Given the description of an element on the screen output the (x, y) to click on. 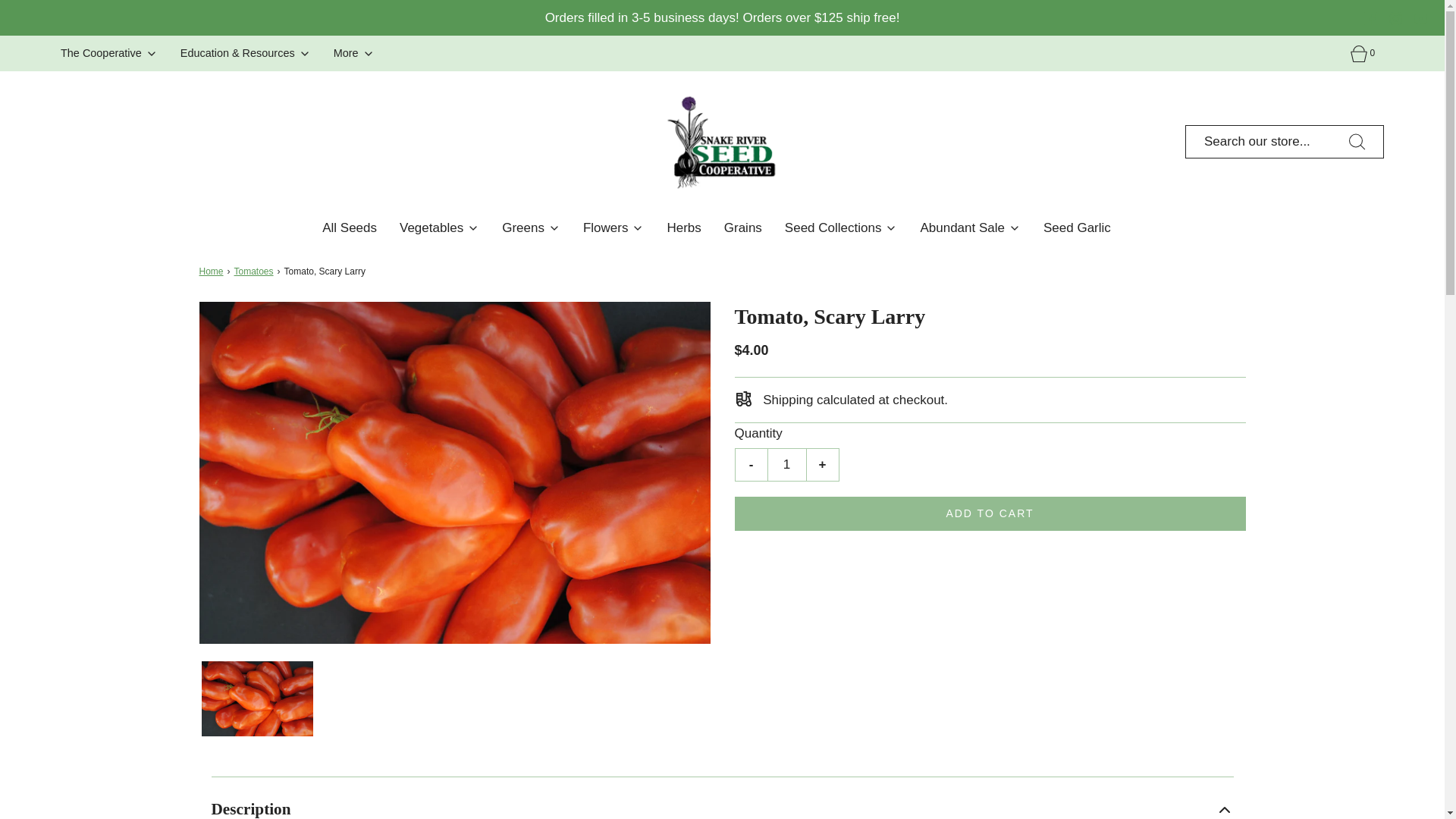
All Seeds (349, 227)
YouTube icon (1419, 18)
The Cooperative (109, 53)
Instagram icon (1395, 18)
Back to the frontpage (212, 271)
1 (786, 464)
More (353, 53)
Facebook icon (1370, 18)
Facebook icon (1370, 18)
YouTube icon (1419, 18)
